Given the description of an element on the screen output the (x, y) to click on. 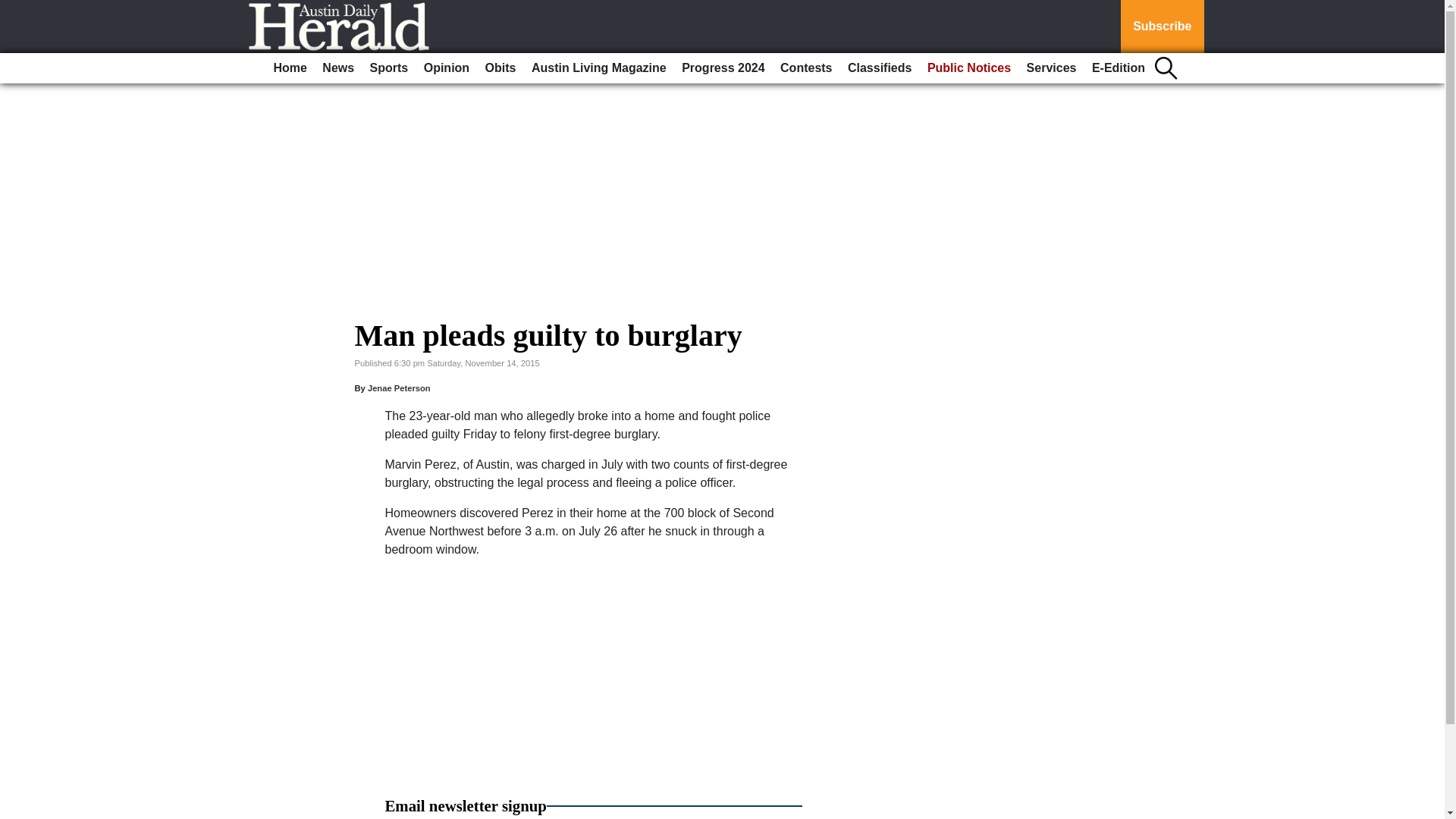
Home (289, 68)
Public Notices (968, 68)
Obits (500, 68)
Progress 2024 (722, 68)
Services (1051, 68)
Subscribe (1162, 26)
Classifieds (879, 68)
Contests (806, 68)
Opinion (446, 68)
Austin Living Magazine (598, 68)
